Given the description of an element on the screen output the (x, y) to click on. 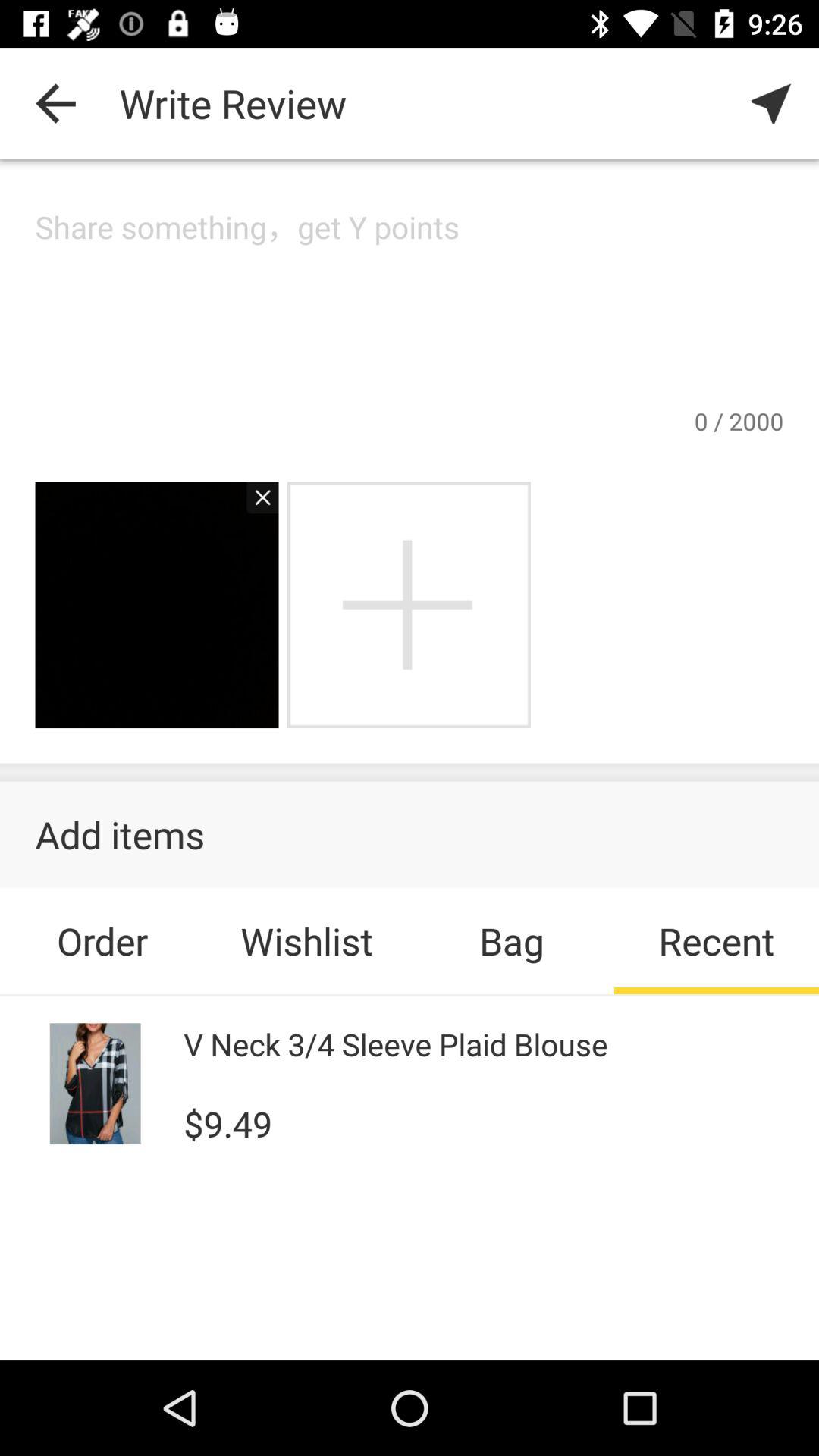
click icon to the left of the write review app (55, 103)
